Given the description of an element on the screen output the (x, y) to click on. 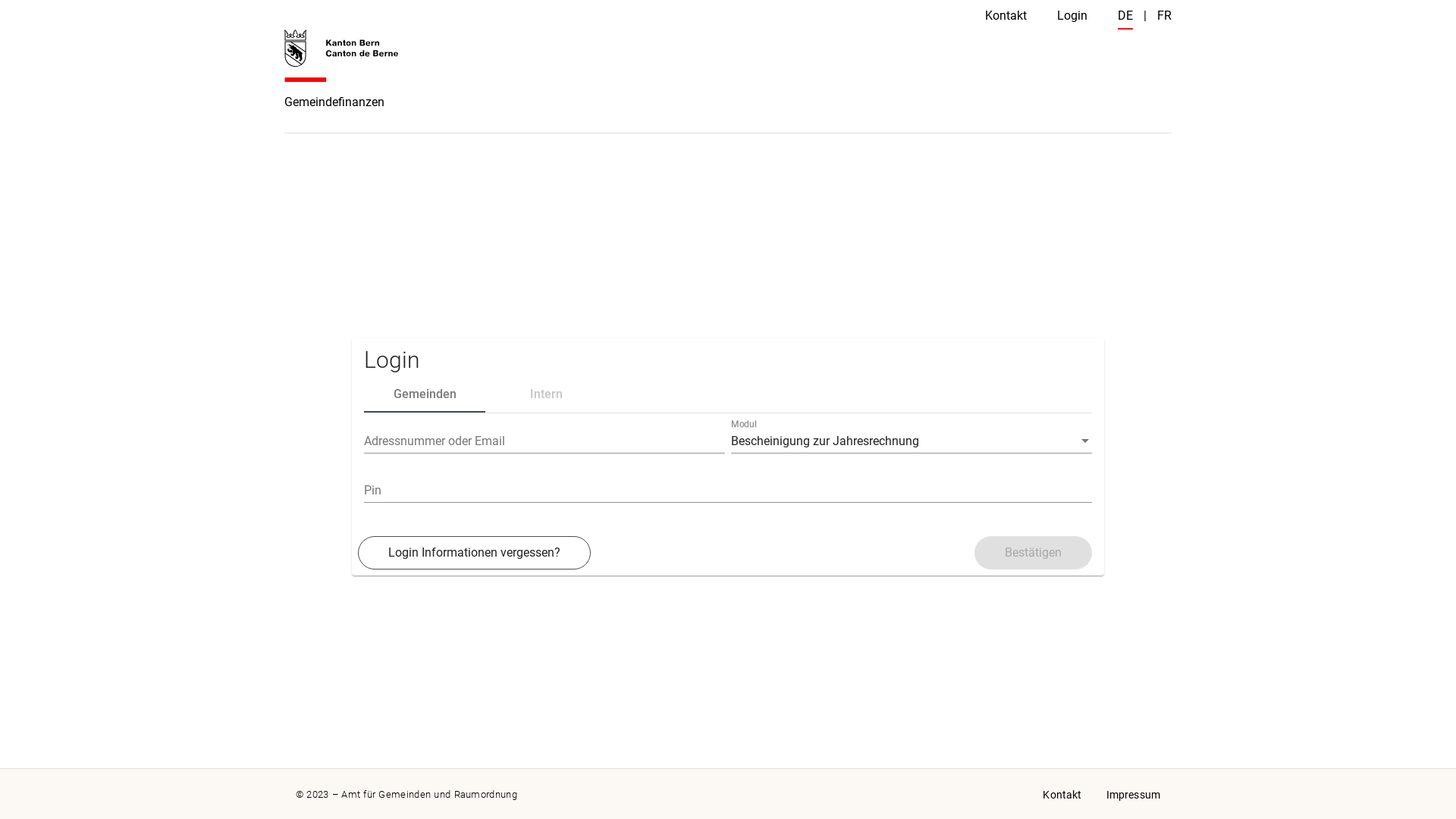
Login Informationen vergessen? Element type: text (473, 552)
Impressum Element type: text (1133, 794)
Kontakt Element type: text (1005, 15)
Kontakt Element type: text (1061, 794)
